Given the description of an element on the screen output the (x, y) to click on. 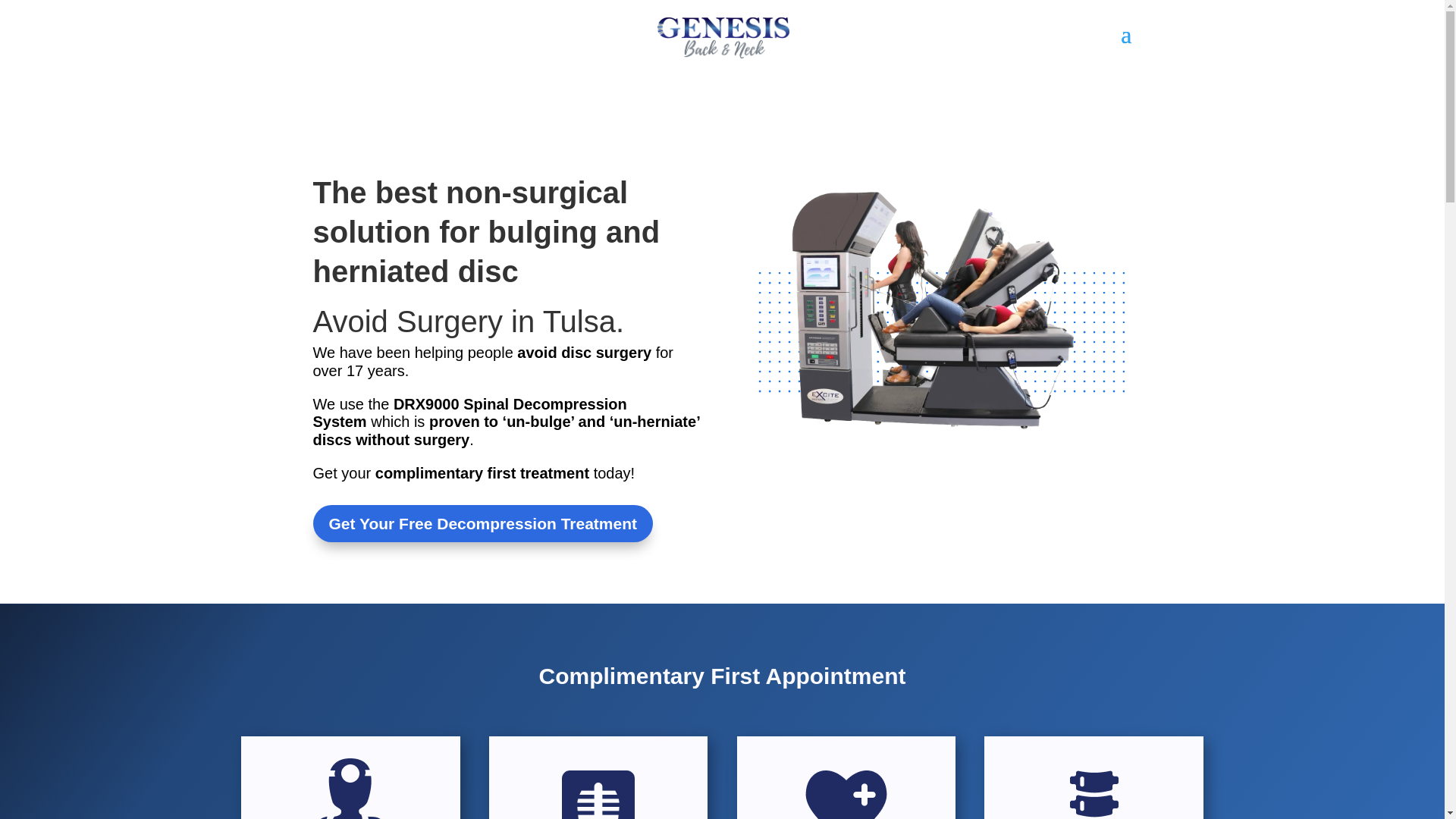
DRX9000-no-surgery-solution (937, 307)
Get Your Free Decompression Treatment (482, 523)
